Given the description of an element on the screen output the (x, y) to click on. 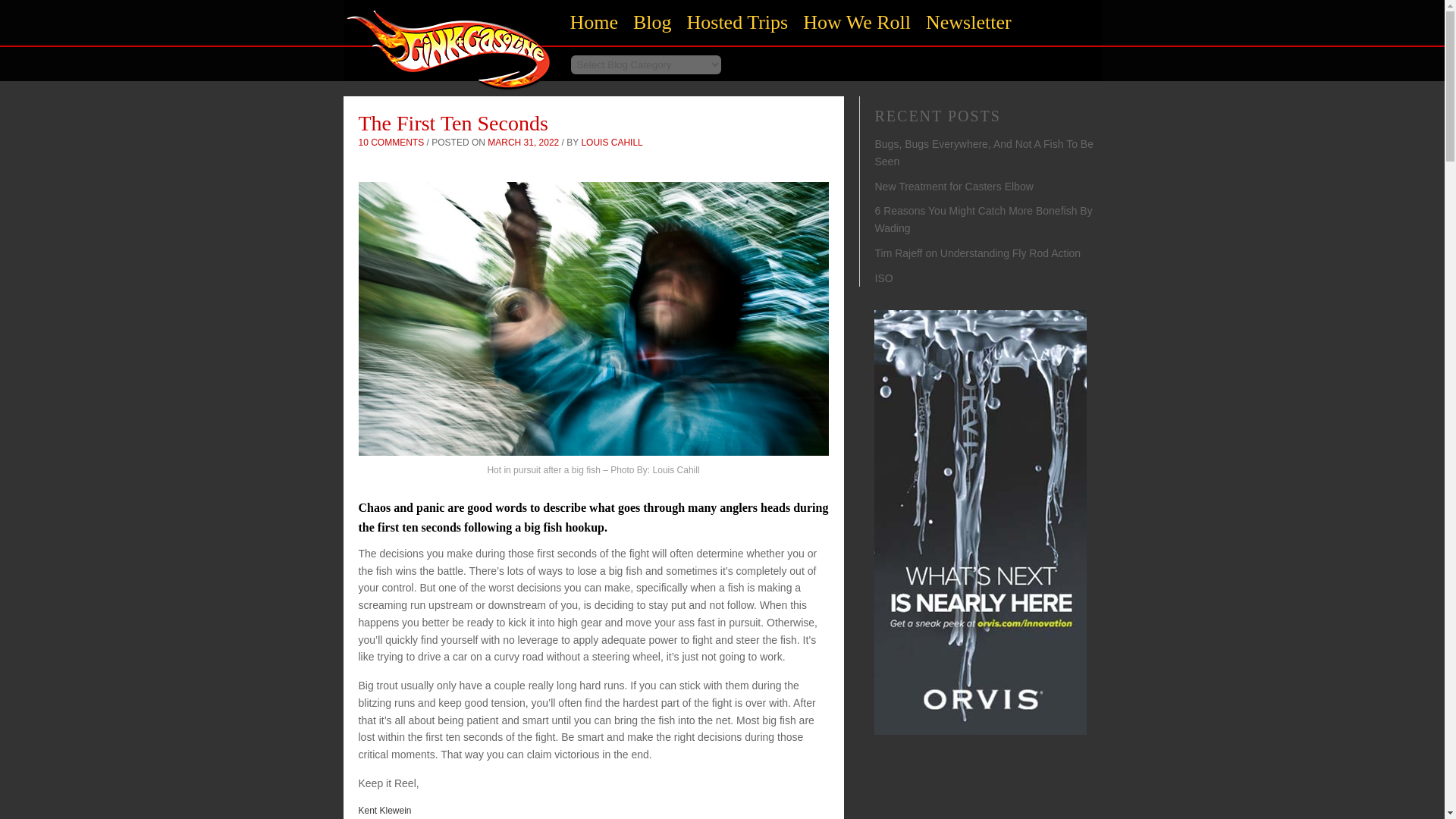
10 COMMENTS (390, 142)
Home (594, 22)
Home (448, 93)
MARCH 31, 2022 (523, 142)
How We Roll (856, 22)
Blog (652, 22)
Skip to primary content (642, 13)
View all posts by Louis Cahill (611, 142)
Skip to secondary content (648, 13)
LOUIS CAHILL (611, 142)
Newsletter (968, 22)
Skip to secondary content (648, 13)
Skip to primary content (642, 13)
4:58 am (523, 142)
Hosted Trips (737, 22)
